Given the description of an element on the screen output the (x, y) to click on. 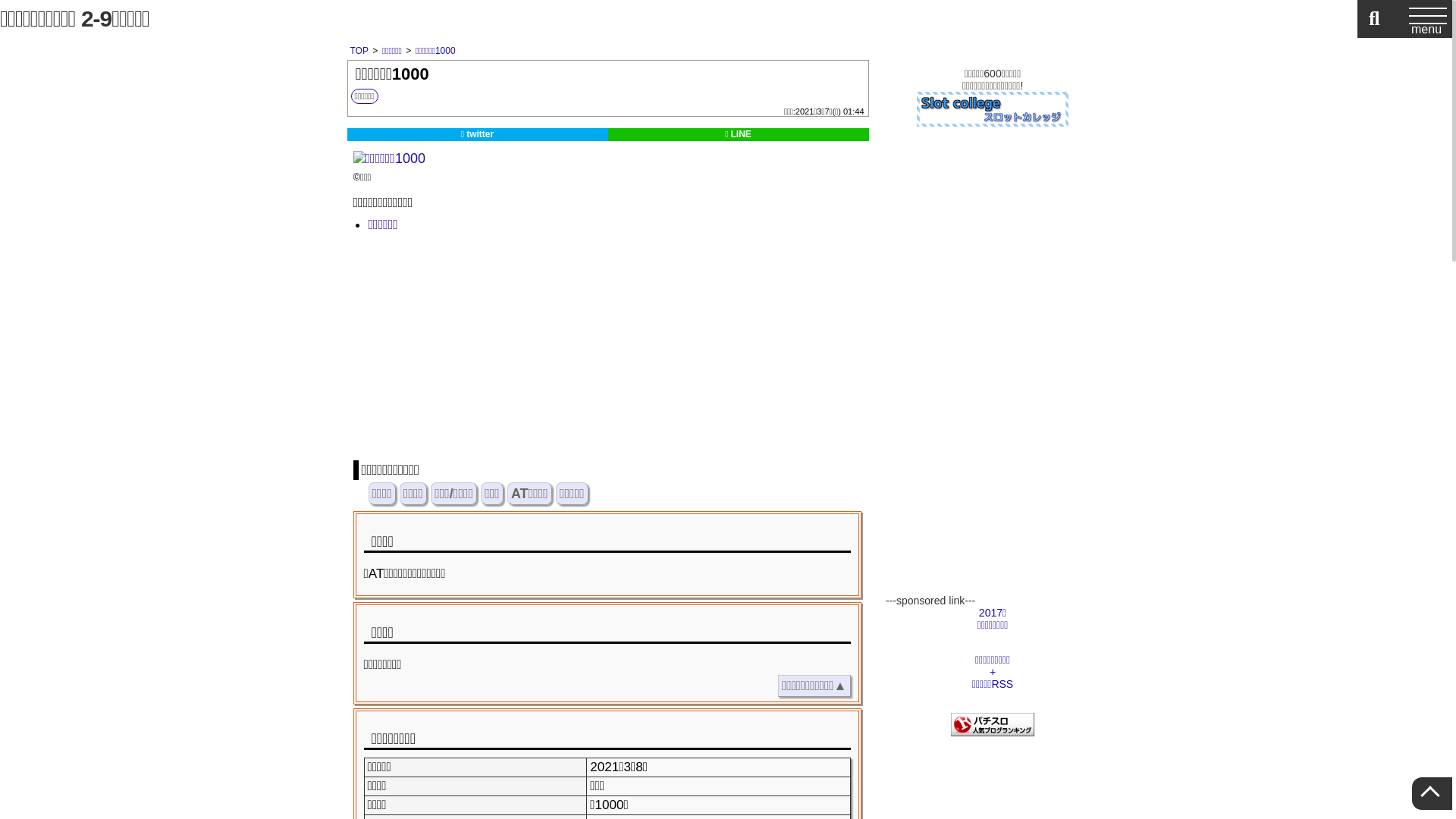
LINE Element type: text (738, 134)
twitter Element type: text (477, 134)
Advertisement Element type: hover (606, 346)
TOP Element type: text (359, 50)
Advertisement Element type: hover (1038, 376)
